Given the description of an element on the screen output the (x, y) to click on. 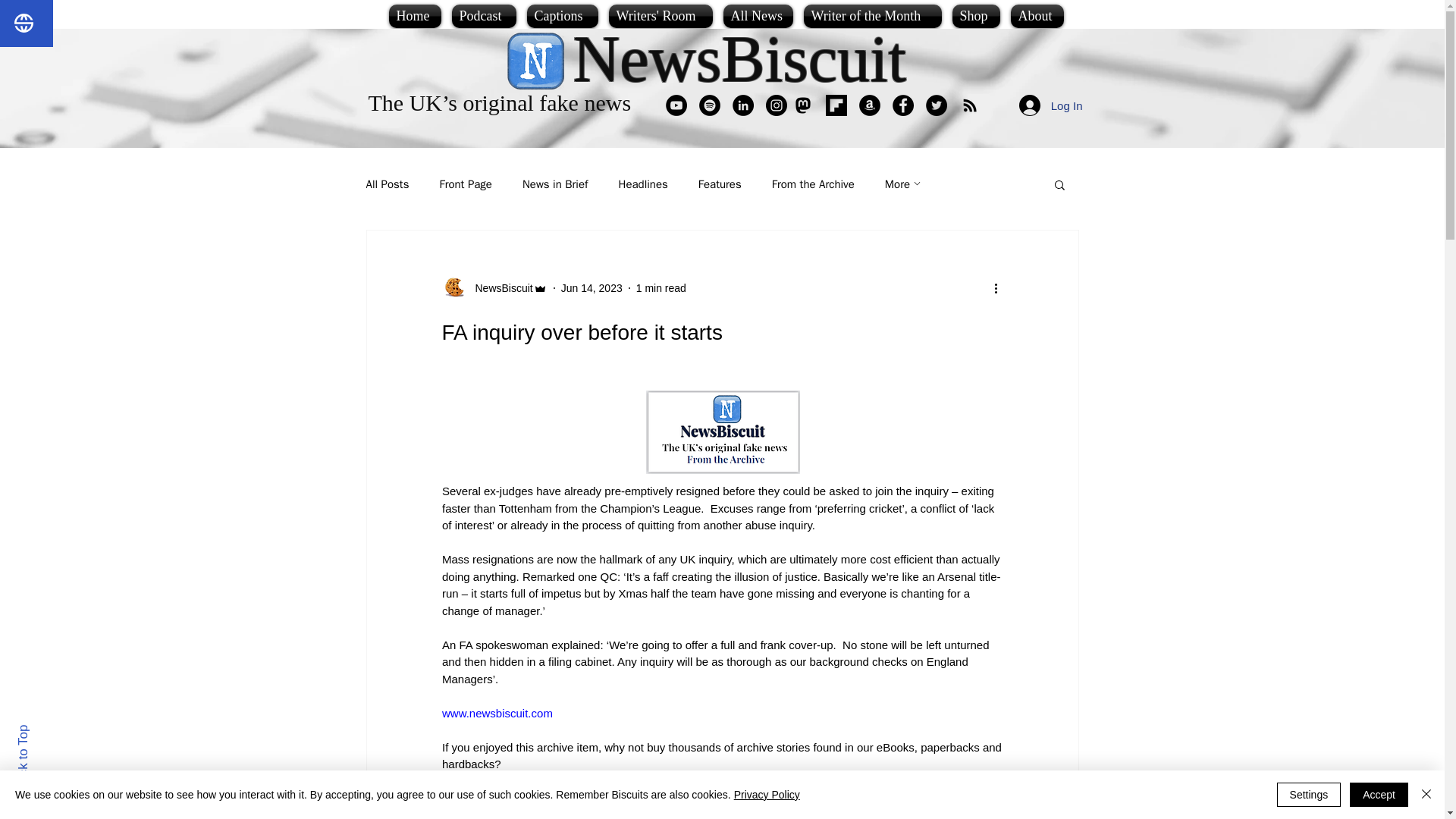
1 min read (660, 287)
Features (719, 184)
All News (757, 15)
NewsBiscuit (740, 58)
Writer of the Month (871, 15)
Home (416, 15)
NewsBiscuit (498, 288)
From the Archive (812, 184)
Podcast (483, 15)
Earth to be Recycled (494, 797)
